Given the description of an element on the screen output the (x, y) to click on. 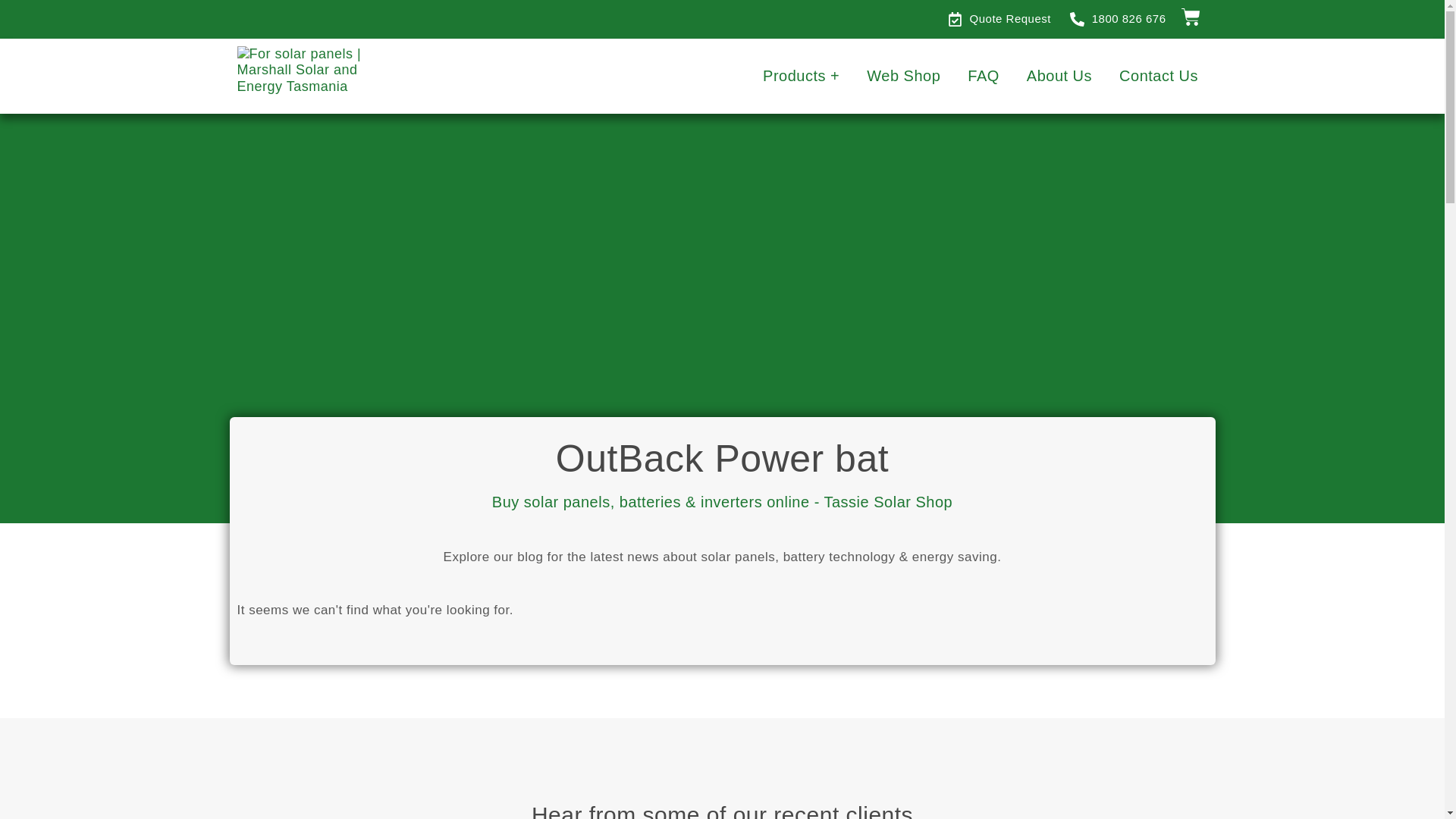
1800 826 676 (1118, 18)
Quote Request (999, 18)
Web Shop (903, 75)
FAQ (983, 75)
About Us (1058, 75)
Contact Us (1158, 75)
